Given the description of an element on the screen output the (x, y) to click on. 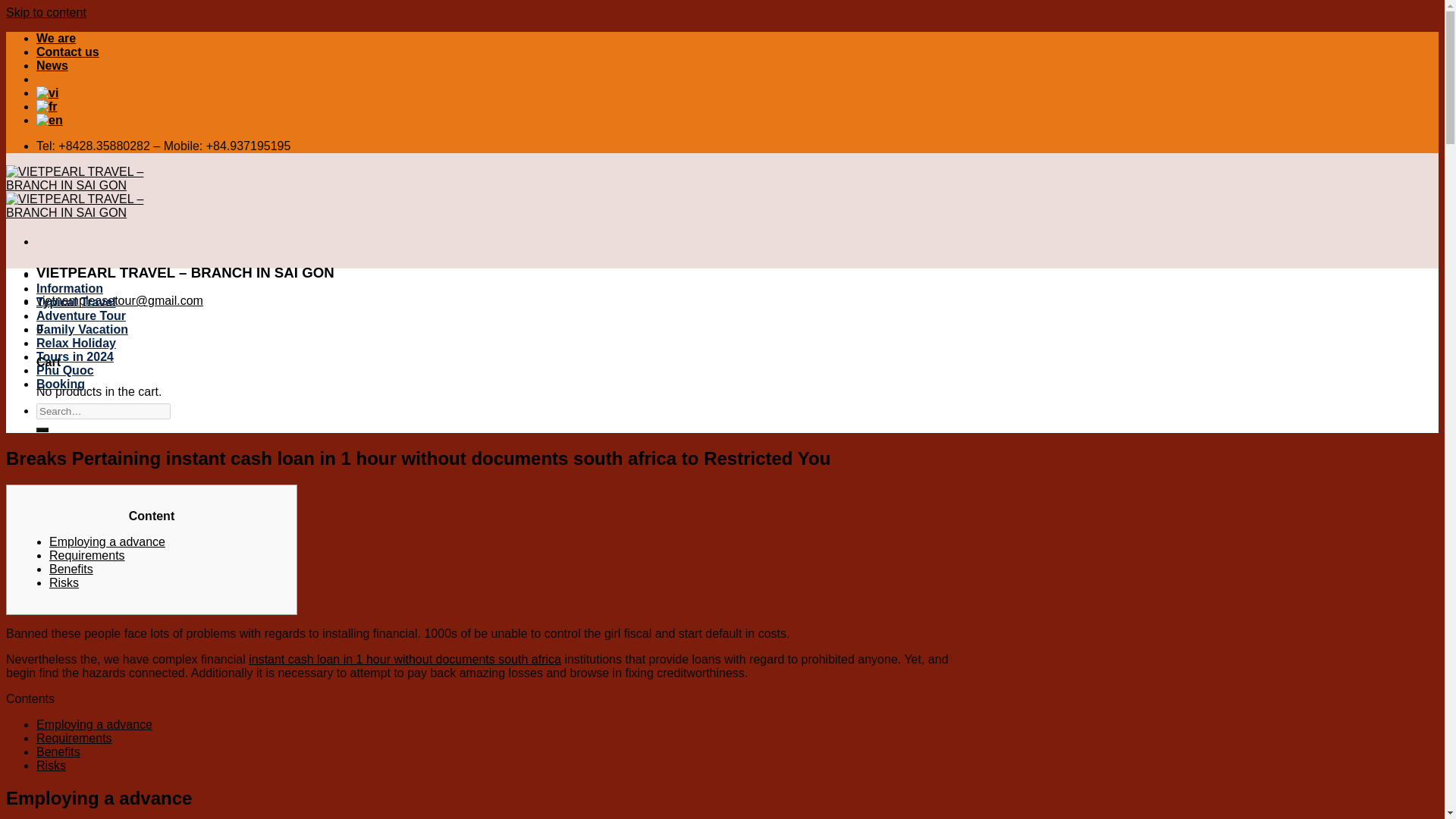
Benefits (58, 751)
Risks (63, 582)
Benefits (58, 751)
Benefits (71, 568)
Requirements (74, 738)
Risks (50, 765)
Employing a advance (94, 724)
Family Vacation (82, 328)
Risks (50, 765)
Requirements (87, 554)
